Given the description of an element on the screen output the (x, y) to click on. 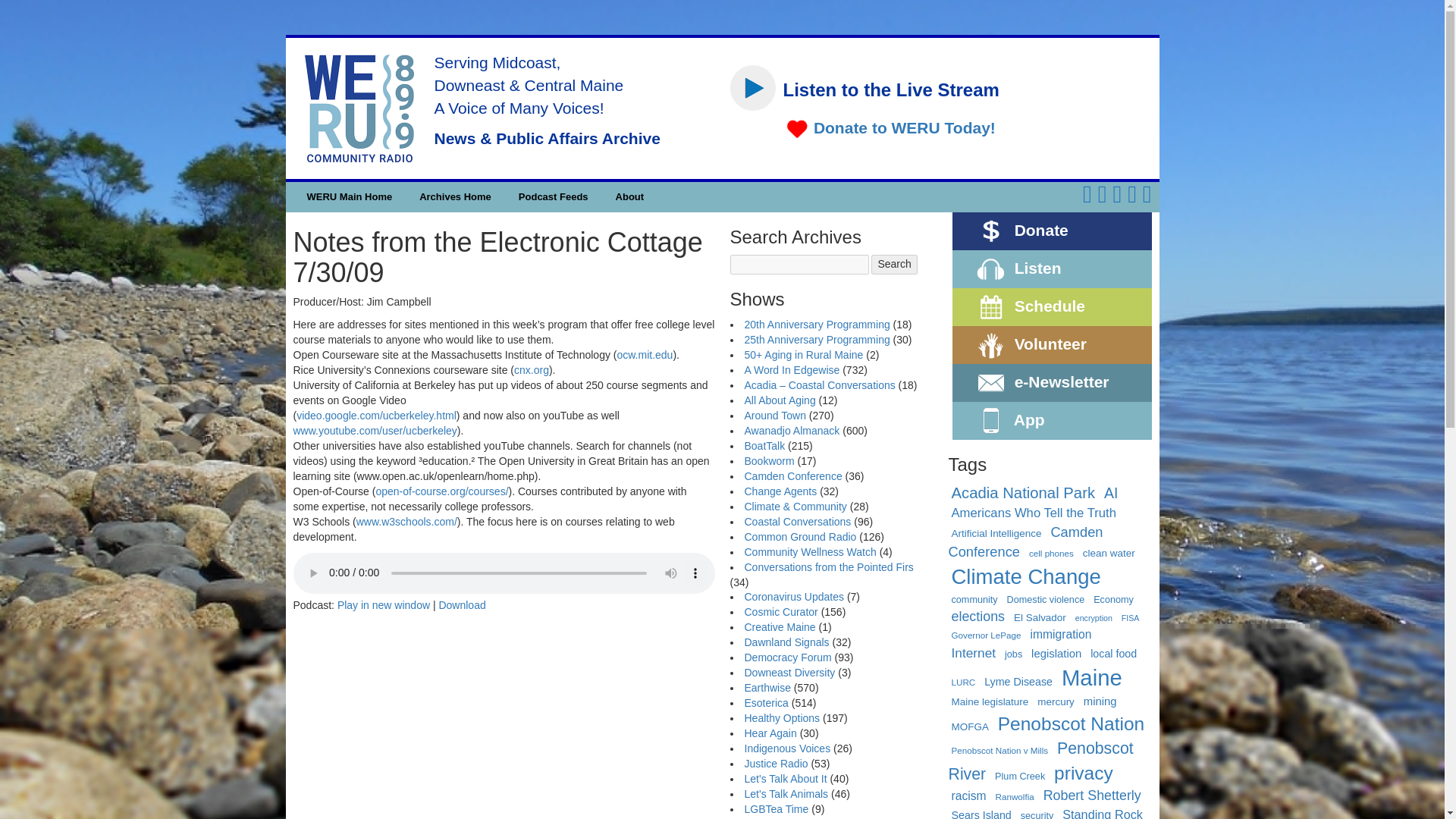
Search (893, 264)
Download (461, 604)
Archives Home (455, 196)
A Word In Edgewise (792, 369)
20th Anniversary Programming (816, 324)
Awanadjo Almanack (792, 430)
Search (893, 264)
cnx.org (530, 369)
BoatTalk (765, 445)
